Given the description of an element on the screen output the (x, y) to click on. 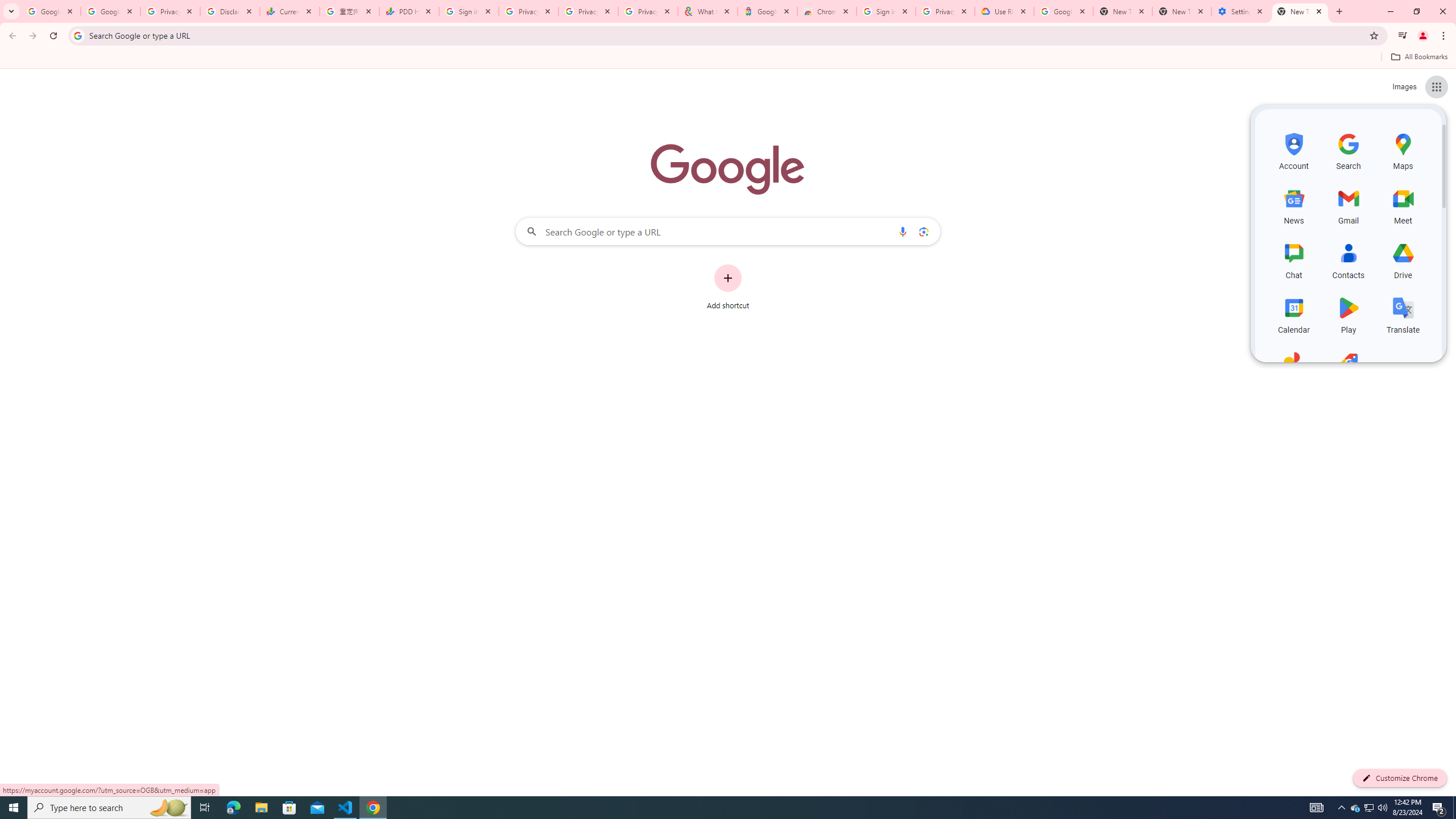
New Tab (1182, 11)
Search Google or type a URL (727, 230)
